Given the description of an element on the screen output the (x, y) to click on. 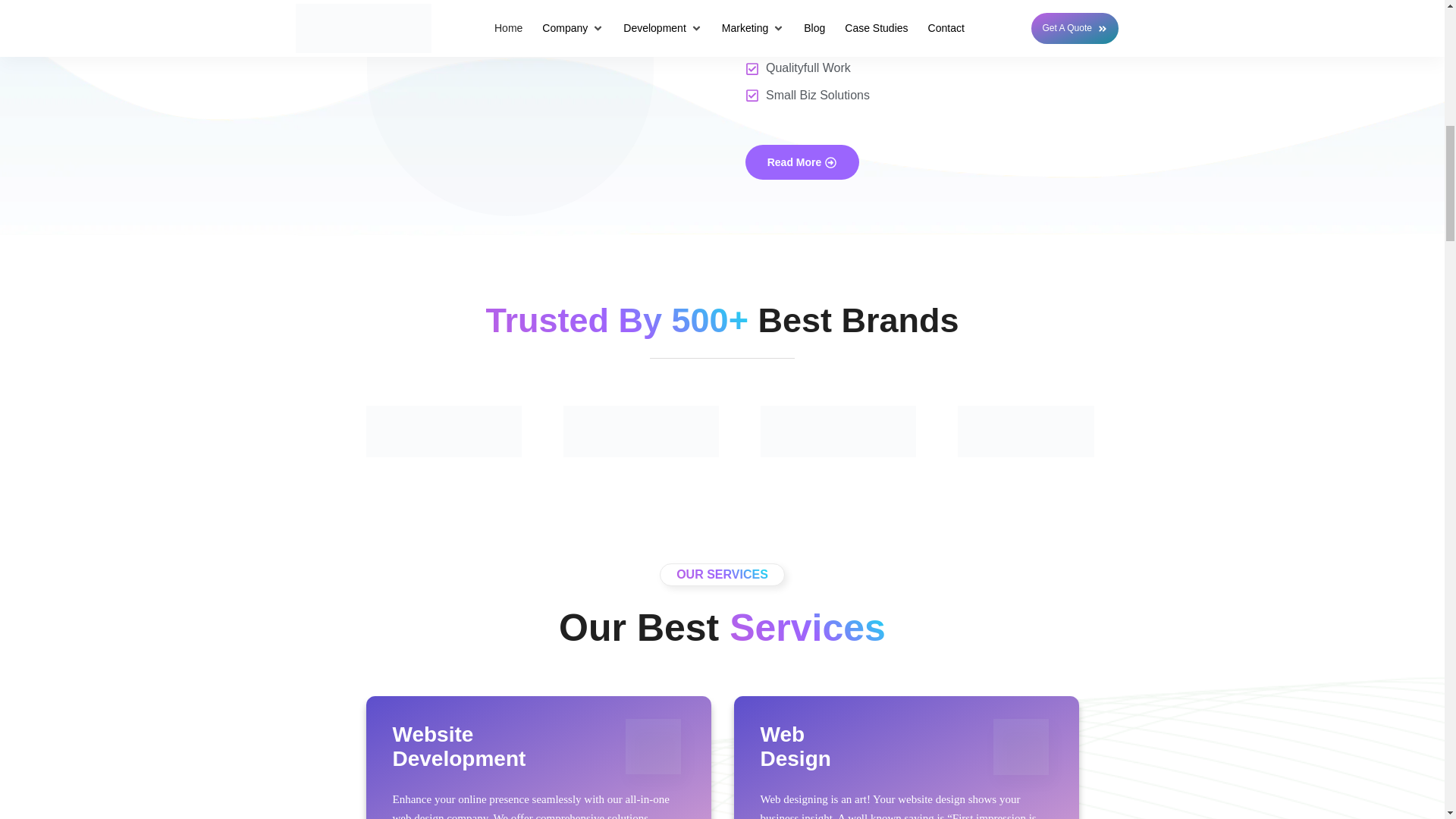
List Title (640, 431)
